Given the description of an element on the screen output the (x, y) to click on. 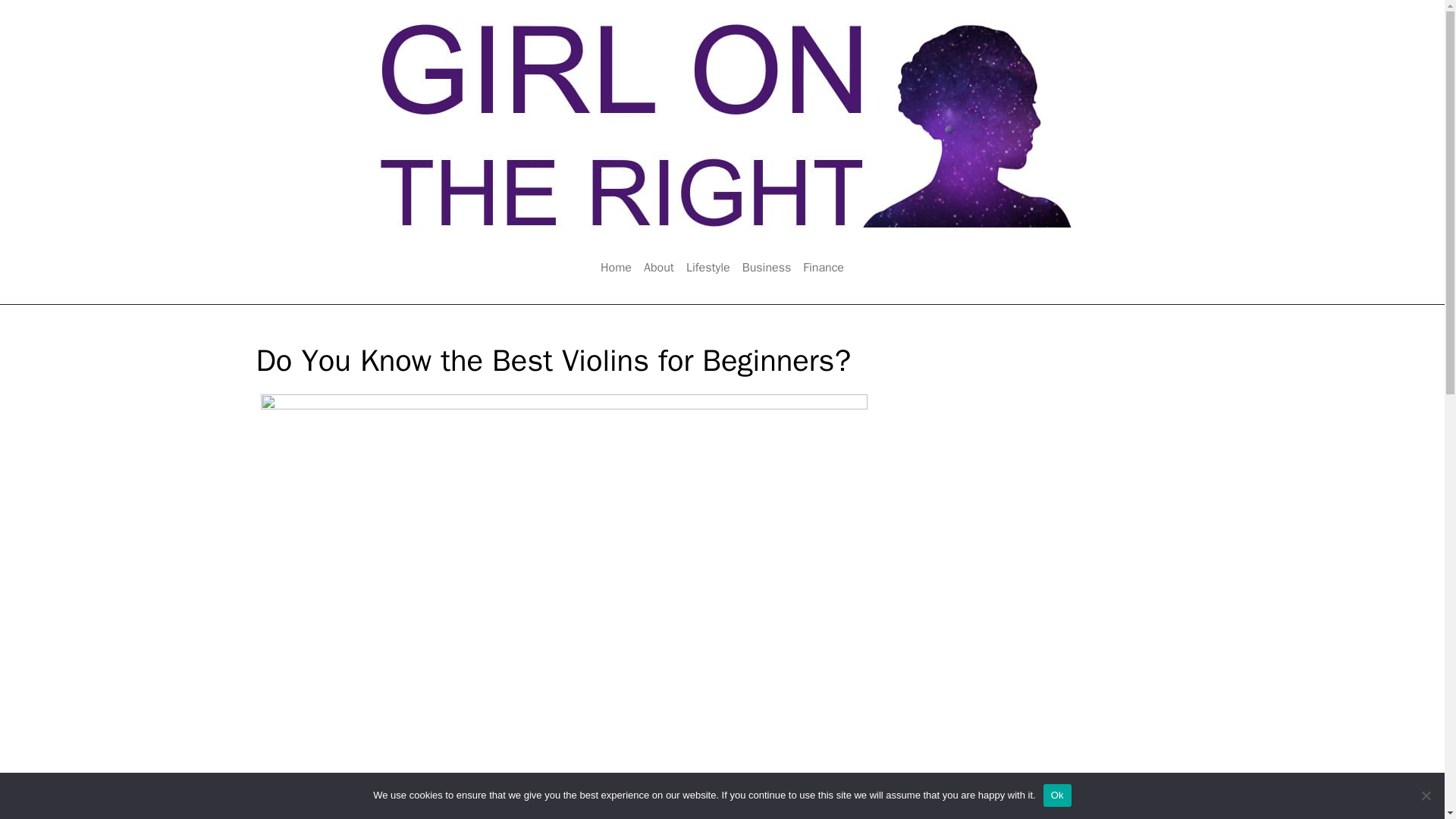
violins for beginners (749, 811)
Finance (823, 267)
No (1425, 795)
Ok (1057, 794)
About (658, 267)
Lifestyle (707, 267)
Business (766, 267)
Home (615, 267)
